Given the description of an element on the screen output the (x, y) to click on. 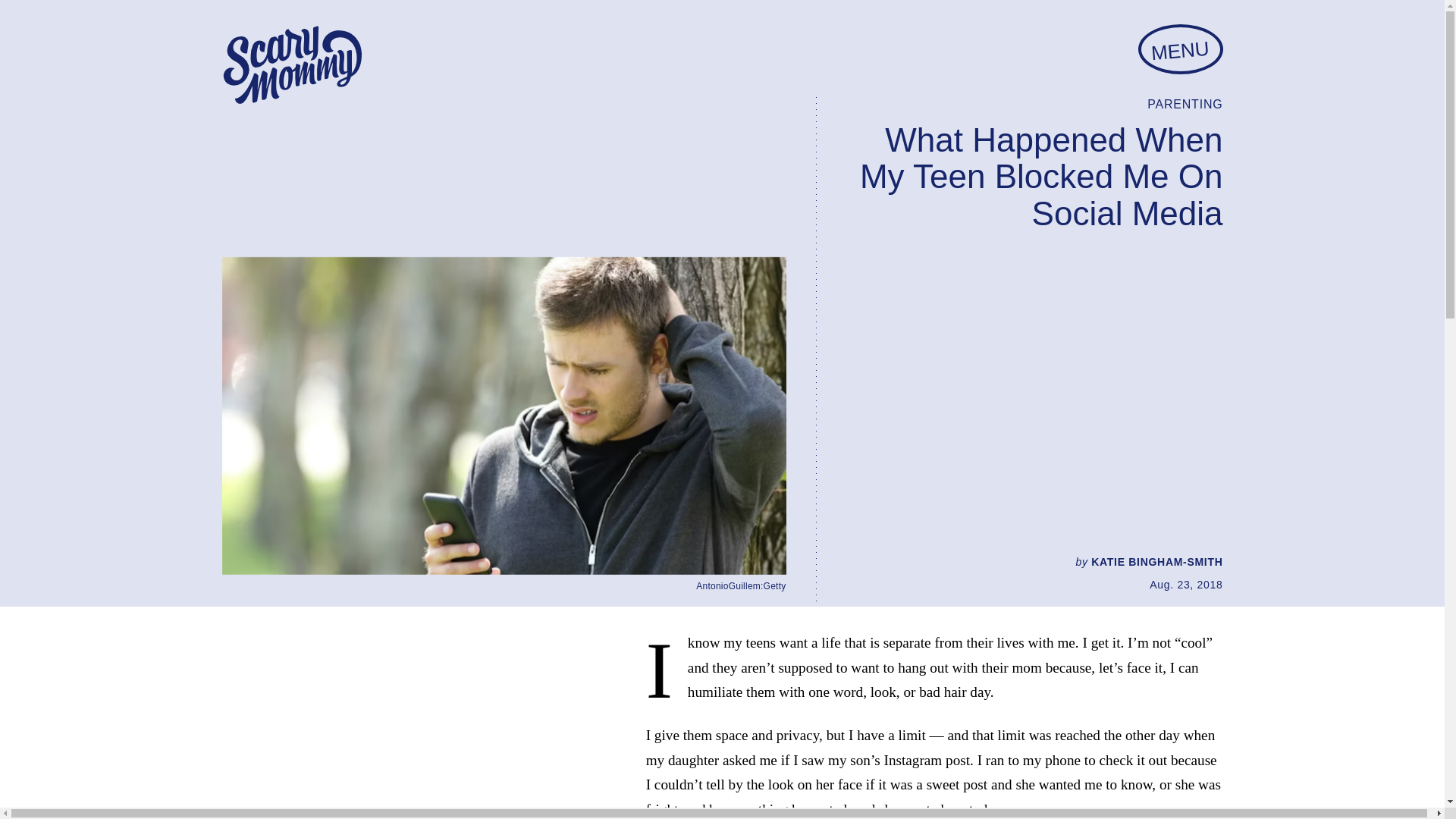
KATIE BINGHAM-SMITH (1156, 562)
Scary Mommy (291, 64)
